Given the description of an element on the screen output the (x, y) to click on. 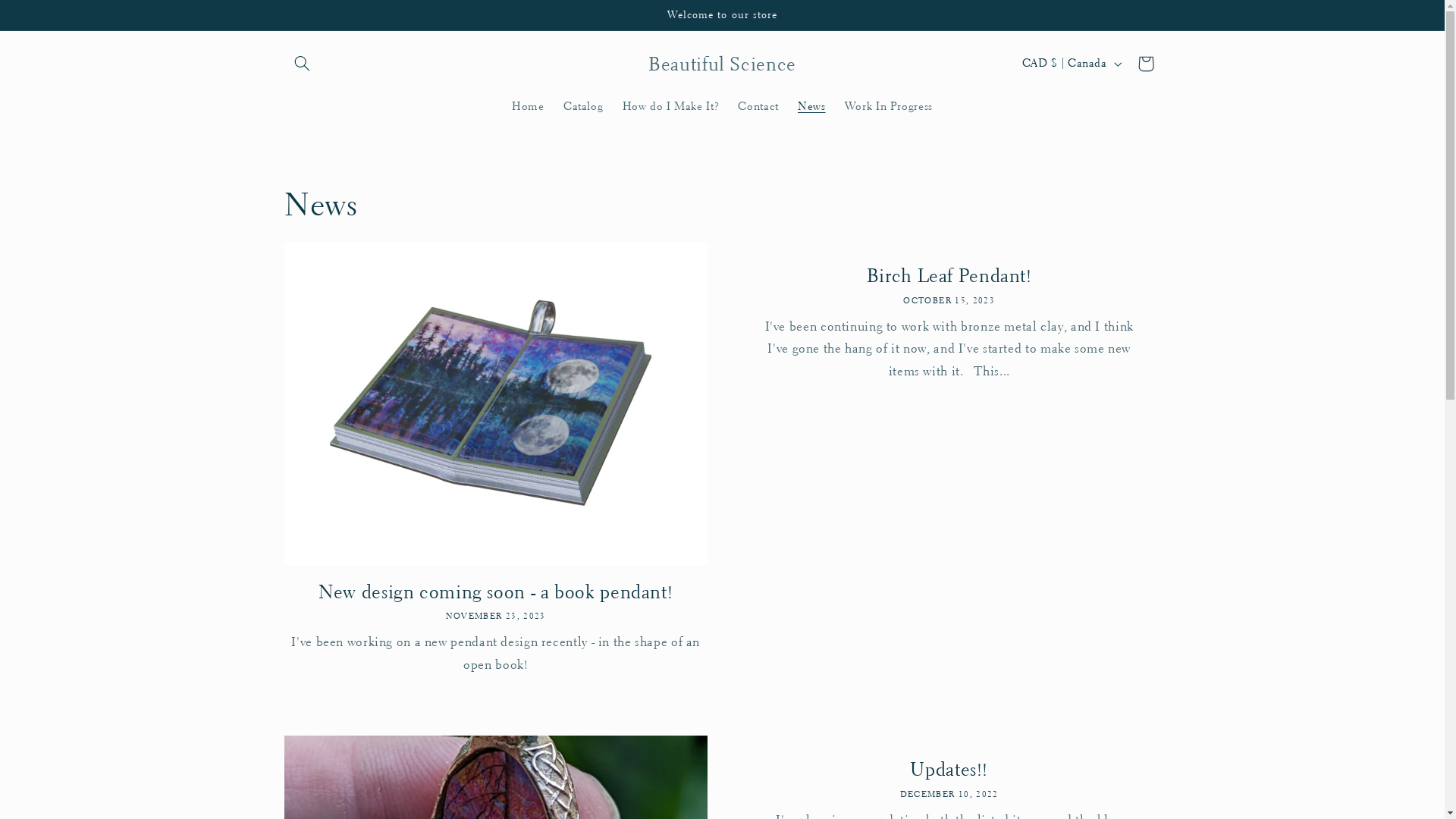
New design coming soon - a book pendant! Element type: text (495, 591)
How do I Make It? Element type: text (670, 105)
News Element type: text (810, 105)
Cart Element type: text (1145, 63)
CAD $ | Canada Element type: text (1070, 63)
Home Element type: text (528, 105)
Catalog Element type: text (582, 105)
Birch Leaf Pendant! Element type: text (948, 275)
Updates!! Element type: text (948, 769)
Contact Element type: text (758, 105)
Work In Progress Element type: text (887, 105)
Beautiful Science Element type: text (721, 63)
